Given the description of an element on the screen output the (x, y) to click on. 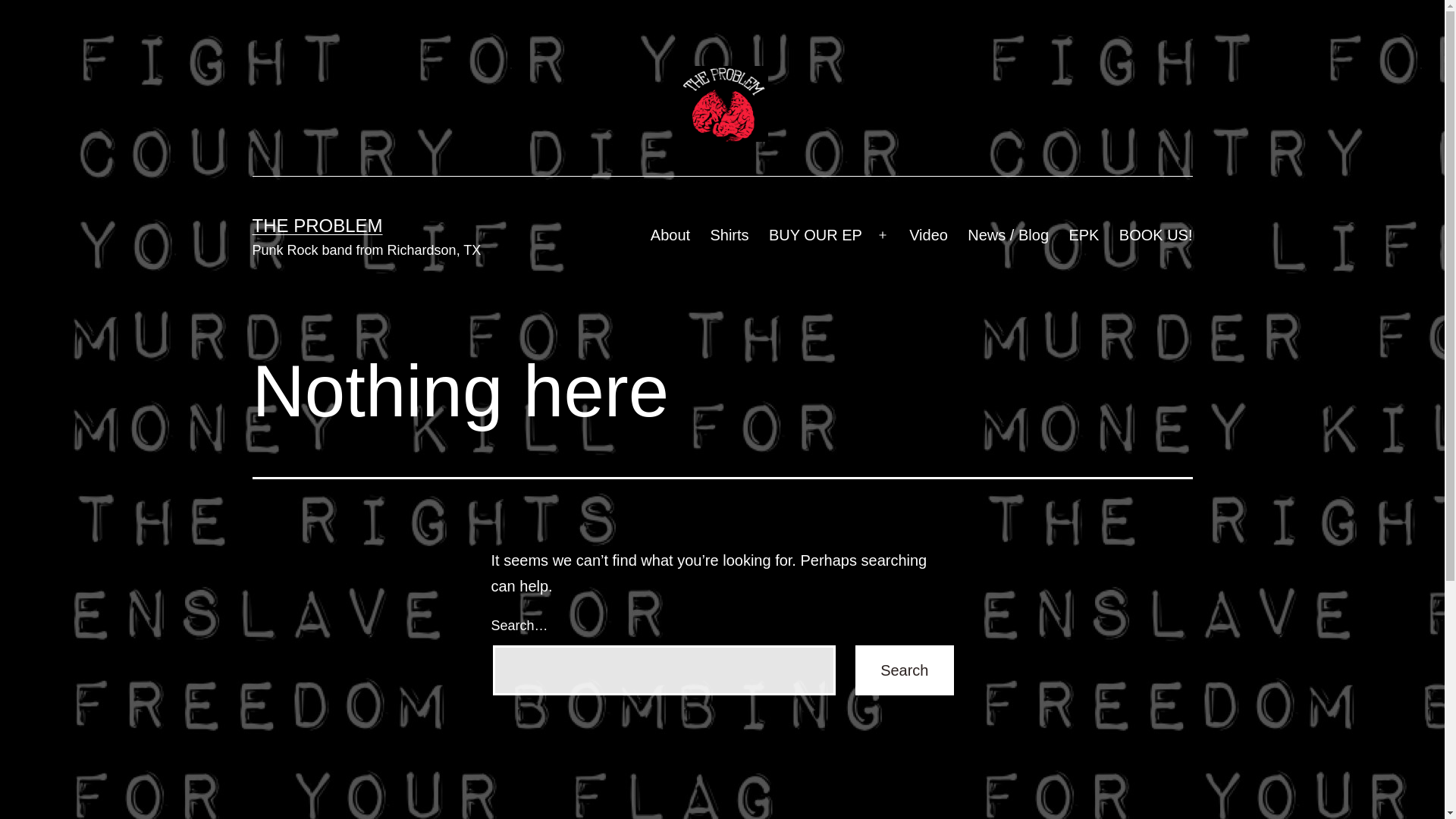
About Element type: text (670, 235)
EPK Element type: text (1083, 235)
BUY OUR EP Element type: text (815, 235)
THE PROBLEM Element type: text (316, 225)
Video Element type: text (928, 235)
Search Element type: text (904, 670)
BOOK US! Element type: text (1155, 235)
News / Blog Element type: text (1007, 235)
Shirts Element type: text (729, 235)
Open menu Element type: text (882, 235)
